Given the description of an element on the screen output the (x, y) to click on. 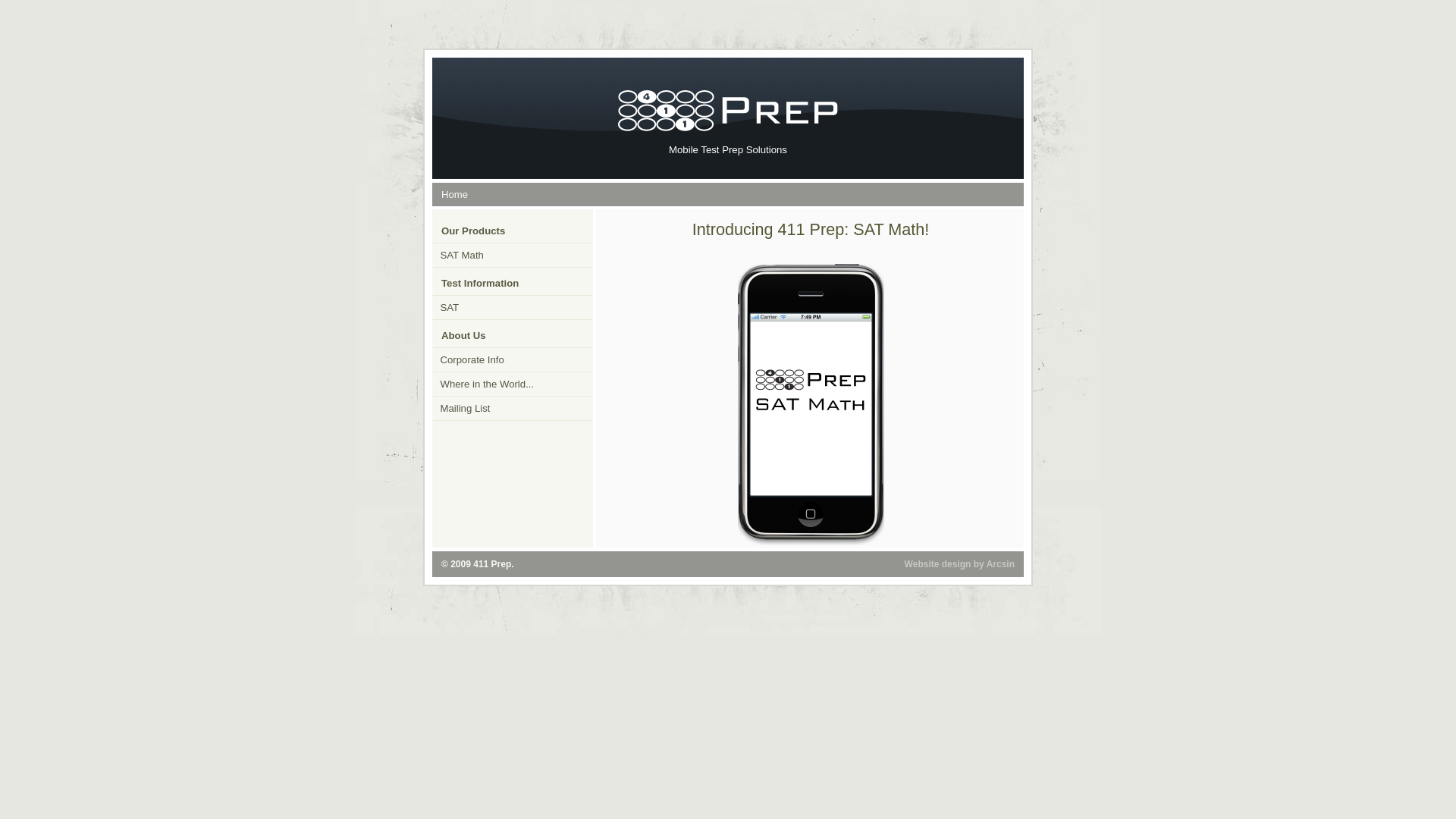
Corporate Info Element type: text (511, 359)
Arcsin Element type: text (1000, 563)
SAT Math Element type: text (511, 254)
Mailing List Element type: text (511, 408)
Home Element type: text (454, 194)
Where in the World... Element type: text (511, 383)
411 Prep Element type: text (492, 563)
Website design Element type: text (937, 563)
SAT Element type: text (511, 307)
